Given the description of an element on the screen output the (x, y) to click on. 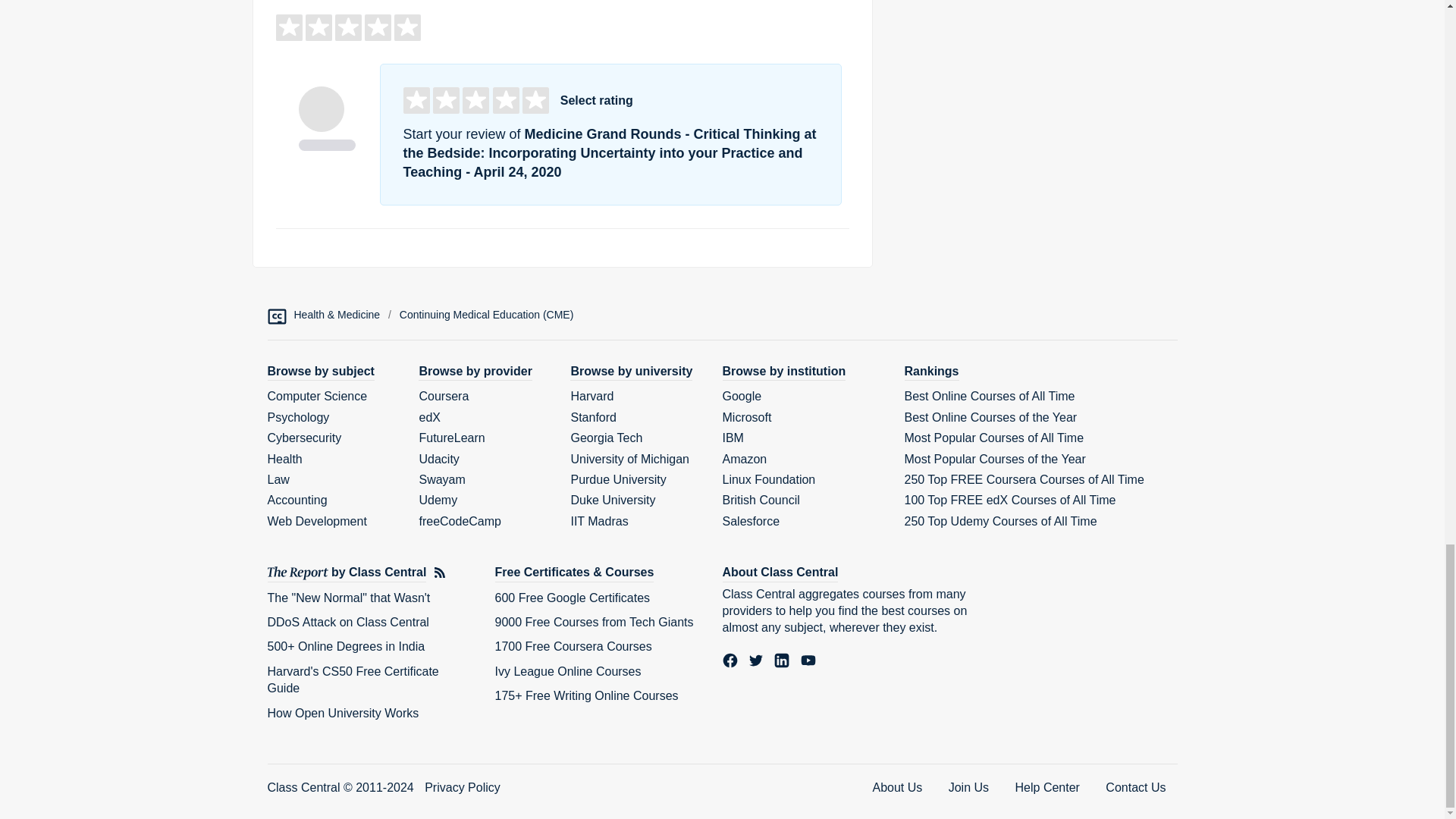
600 Free Google Certificates (572, 597)
DDoS Attack on Class Central (347, 621)
The "New Normal" that Wasn't (347, 597)
Free Courses and Certificates (574, 572)
1700 Free Coursera Courses (572, 645)
Ivy League Online Courses (567, 671)
Harvard's CS50 Free Certificate Guide (352, 679)
How Open University Works (342, 712)
9000 Free Courses from Tech Giants (594, 621)
